Given the description of an element on the screen output the (x, y) to click on. 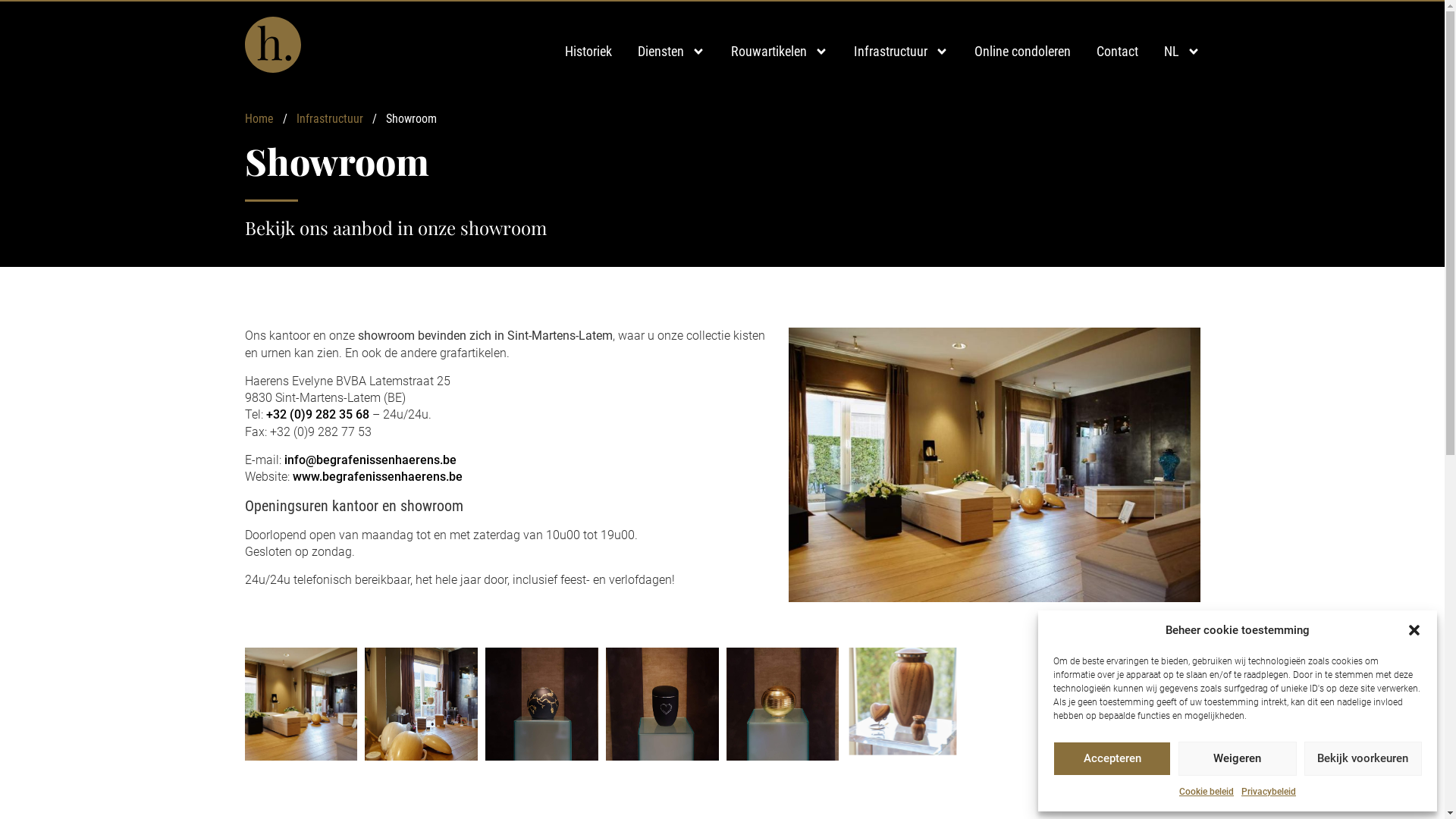
info@begrafenissenhaerens.be Element type: text (369, 459)
Bekijk voorkeuren Element type: text (1362, 758)
Weigeren Element type: text (1236, 758)
Infrastructuur Element type: text (328, 118)
Home Element type: text (258, 118)
Online condoleren Element type: text (1021, 51)
Historiek Element type: text (587, 51)
Contact Element type: text (1117, 51)
+32 (0)9 282 35 68 Element type: text (316, 414)
Privacybeleid Element type: text (1268, 791)
Accepteren Element type: text (1111, 758)
Diensten Element type: text (670, 51)
www.begrafenissenhaerens.be Element type: text (377, 476)
Rouwartikelen Element type: text (779, 51)
Infrastructuur Element type: text (900, 51)
NL Element type: text (1181, 51)
Cookie beleid Element type: text (1206, 791)
